Given the description of an element on the screen output the (x, y) to click on. 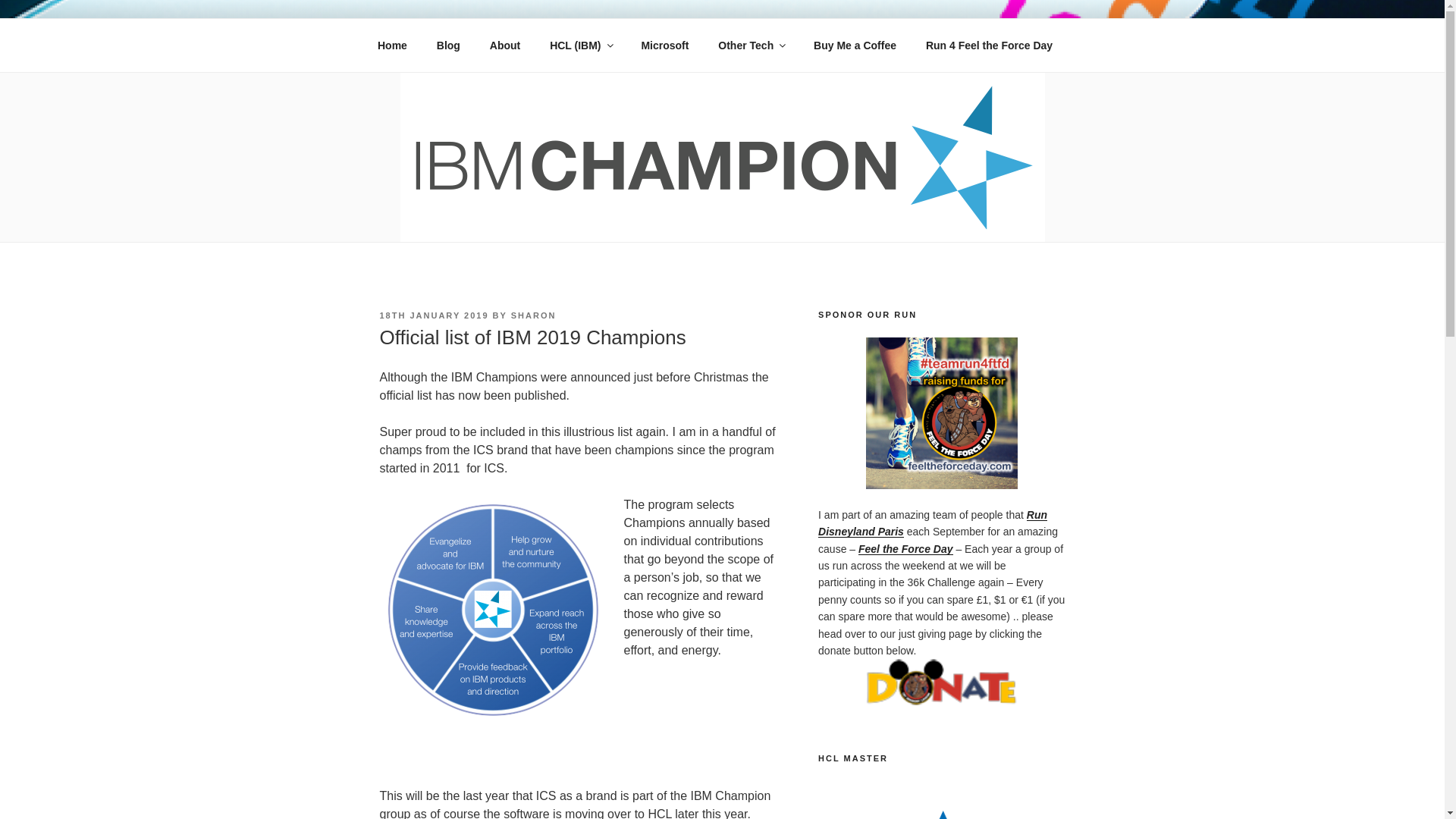
Feel the Force Day (906, 548)
Microsoft (664, 45)
18TH JANUARY 2019 (432, 315)
SOCIALSHAZZA (499, 52)
Run Disneyland Paris (932, 522)
Buy Me a Coffee (855, 45)
Run 4 Feel the Force Day (988, 45)
About (504, 45)
Blog (448, 45)
Other Tech (750, 45)
Home (392, 45)
SHARON (533, 315)
